Given the description of an element on the screen output the (x, y) to click on. 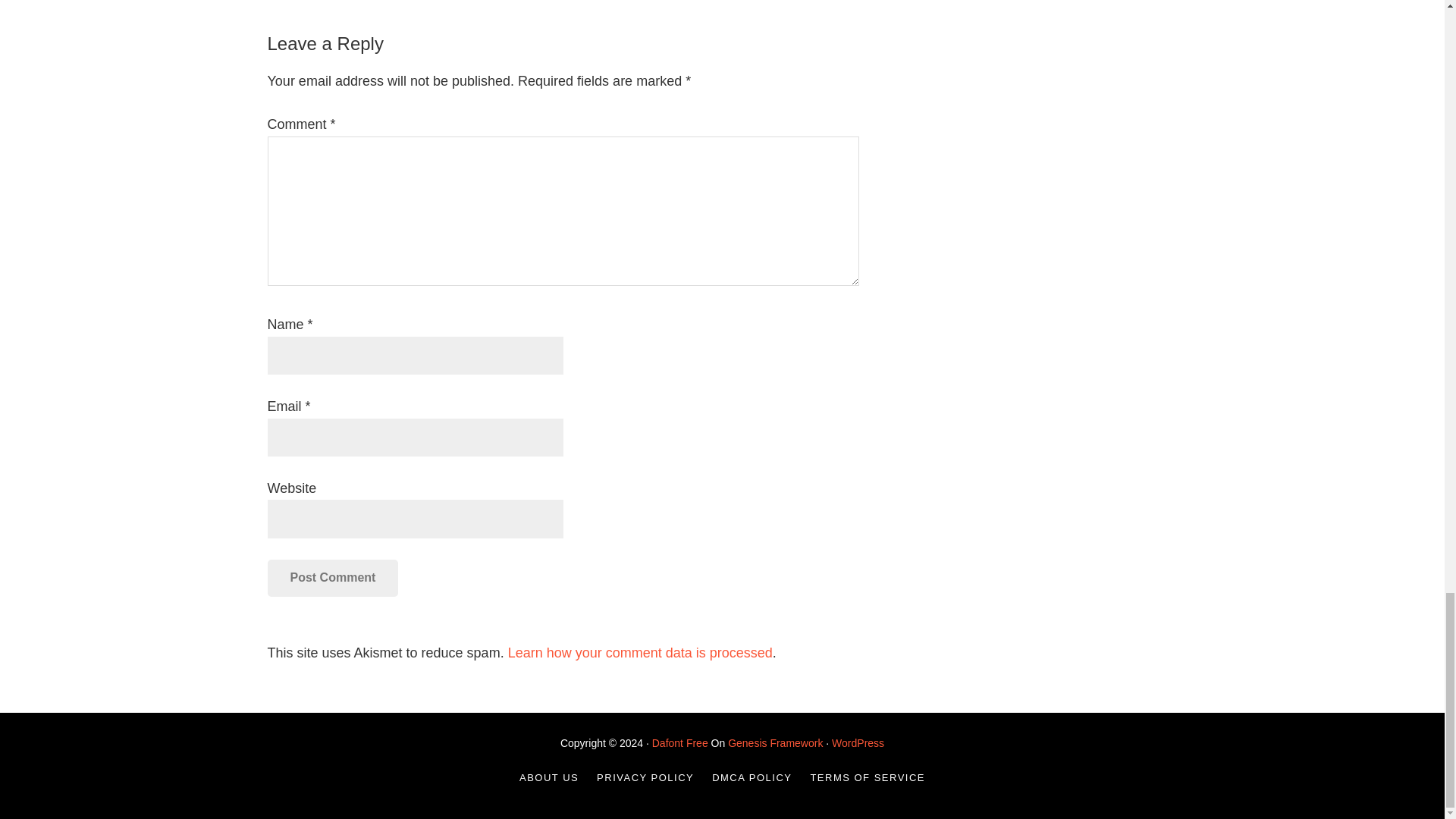
Post Comment (331, 577)
Learn how your comment data is processed (640, 652)
Post Comment (331, 577)
